Given the description of an element on the screen output the (x, y) to click on. 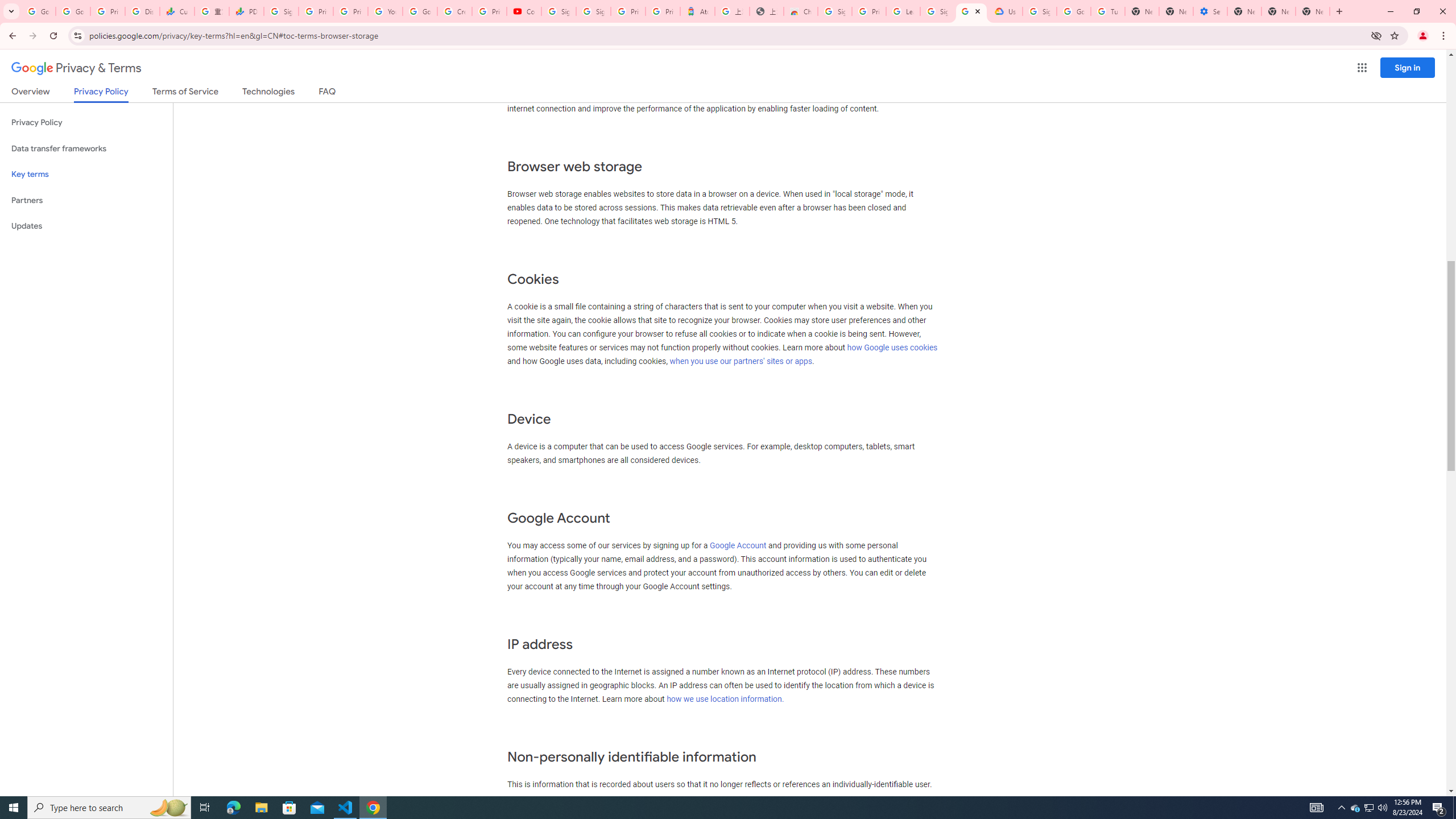
Sign in - Google Accounts (592, 11)
PDD Holdings Inc - ADR (PDD) Price & News - Google Finance (246, 11)
Chrome Web Store - Color themes by Chrome (800, 11)
Sign in - Google Accounts (834, 11)
